Given the description of an element on the screen output the (x, y) to click on. 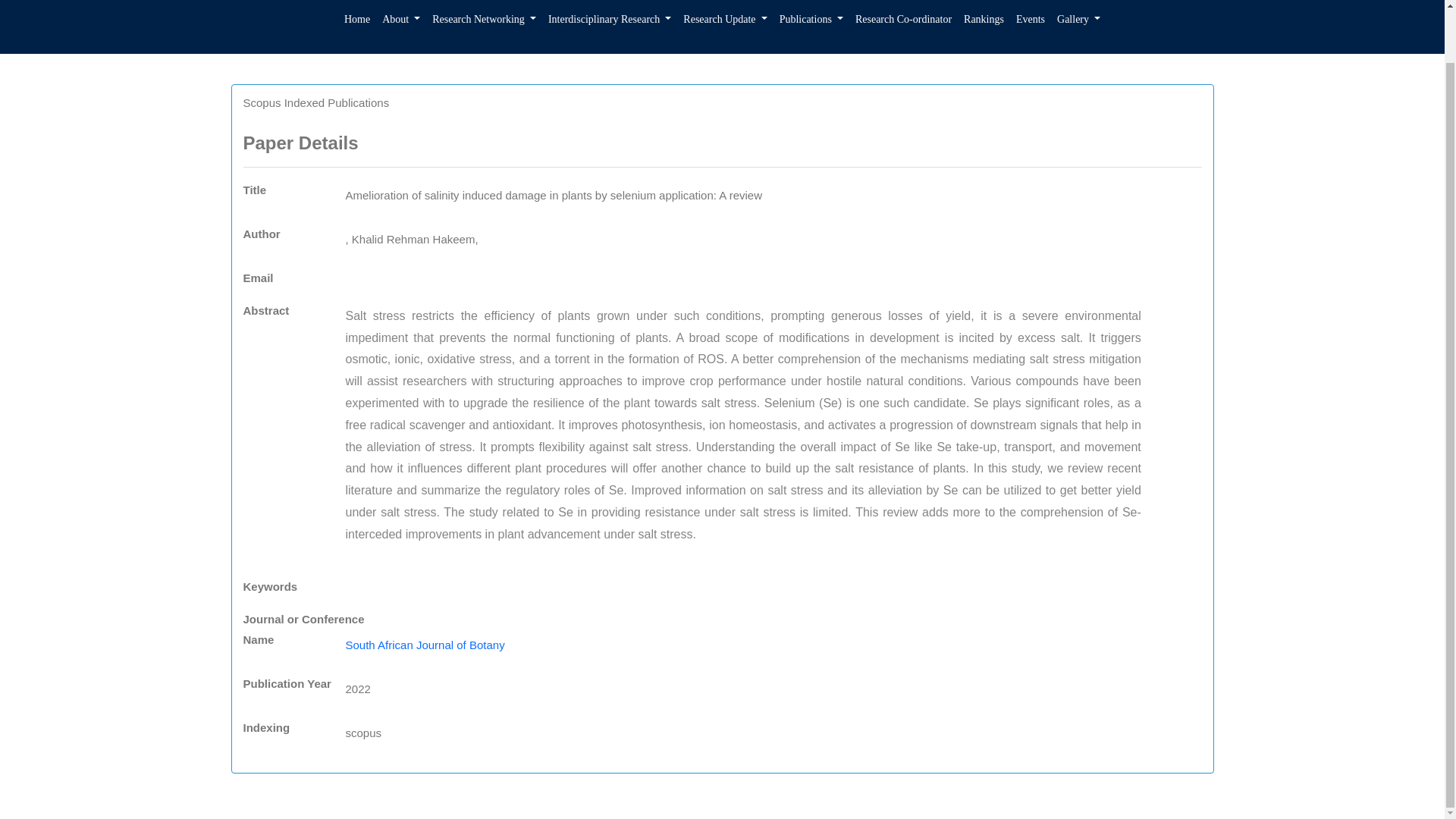
Gallery (1078, 23)
Rankings (984, 23)
About (400, 23)
Research Update (725, 23)
Research Networking (483, 23)
Research Co-ordinator (903, 23)
Publications (810, 23)
South African Journal of Botany (425, 644)
Interdisciplinary Research (609, 23)
